Given the description of an element on the screen output the (x, y) to click on. 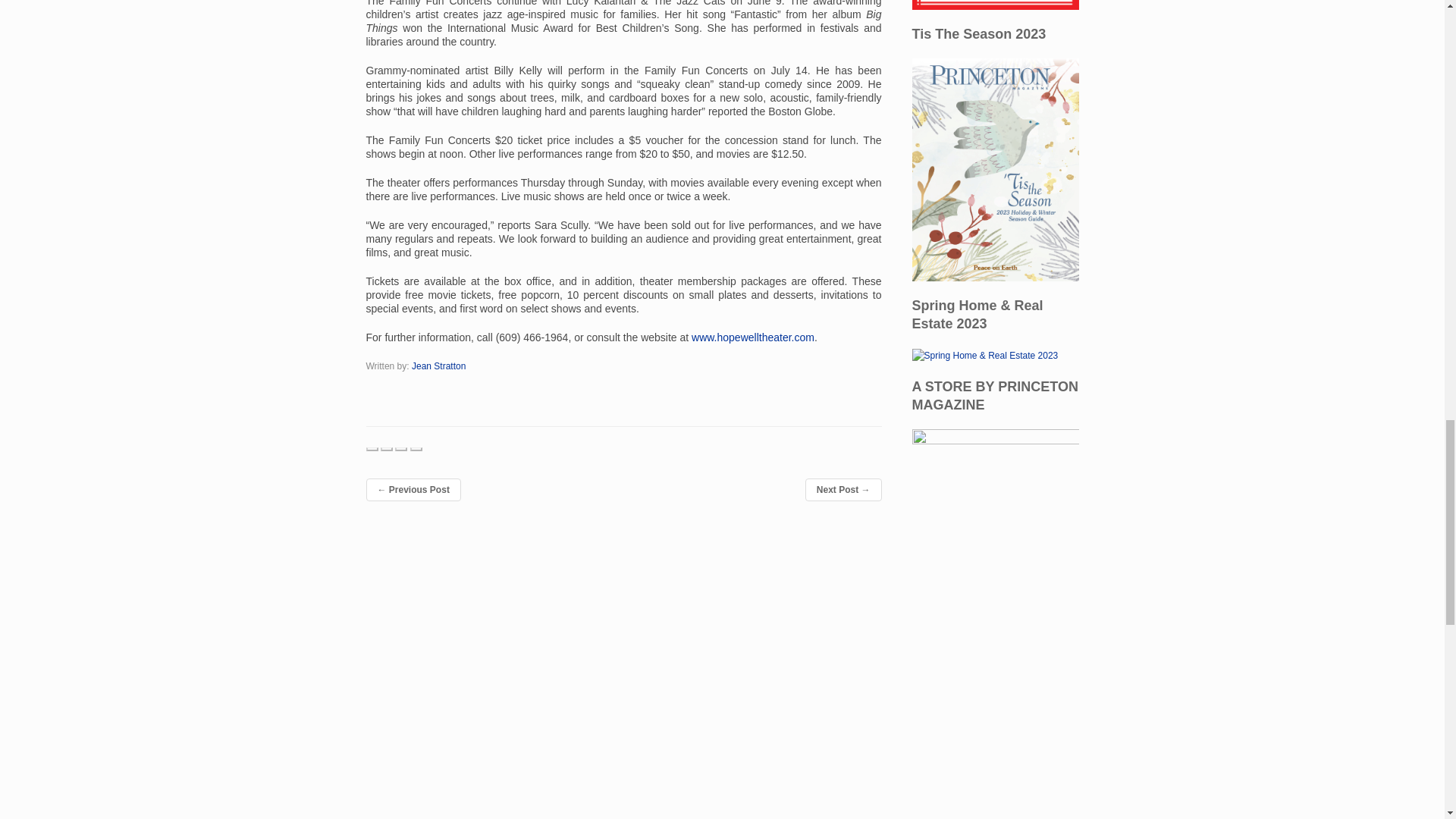
More about Jean Stratton  (438, 366)
